Given the description of an element on the screen output the (x, y) to click on. 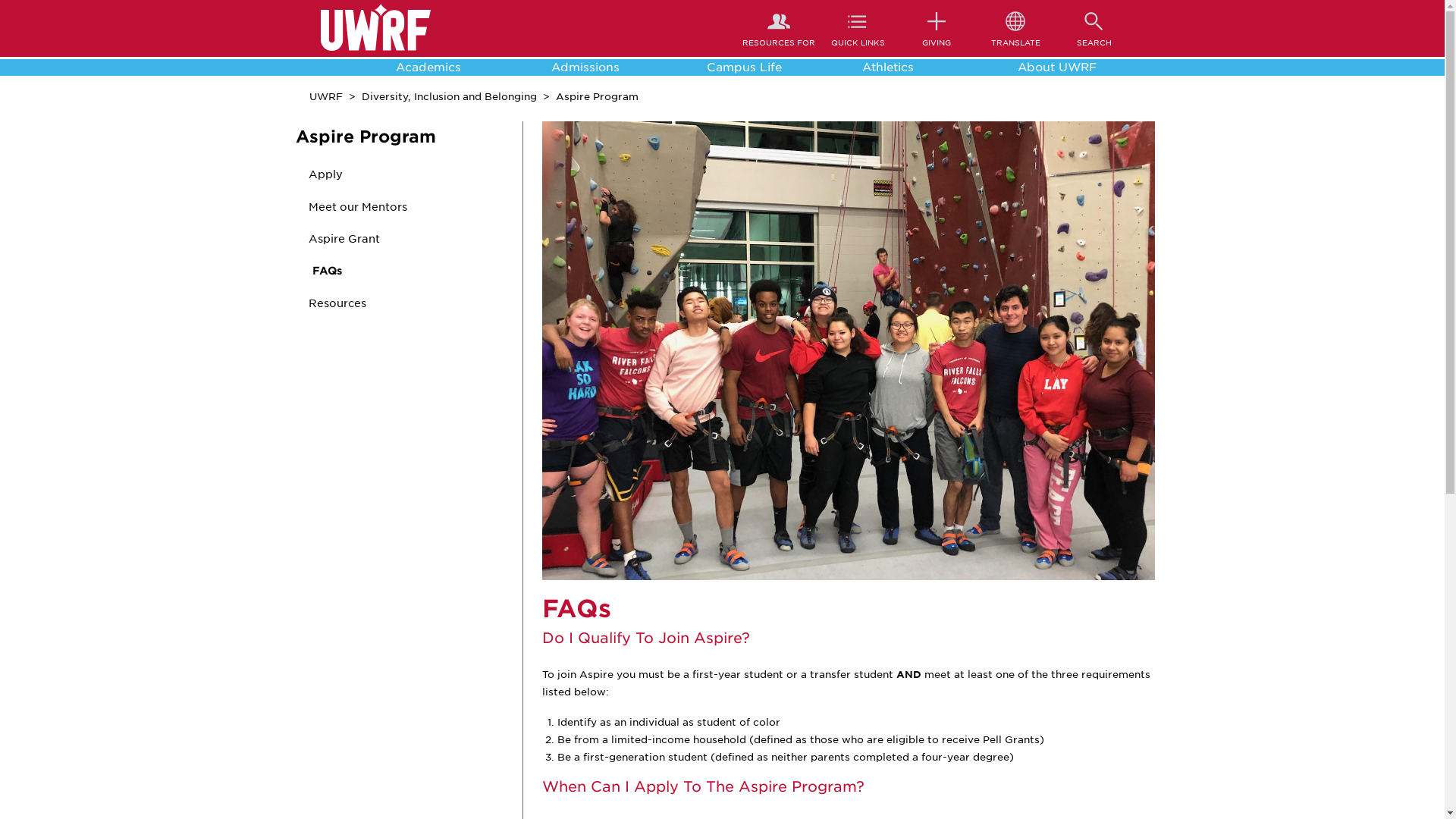
Academics (453, 67)
QUICK LINKS (858, 26)
GIVING (936, 26)
Admissions (609, 67)
SEARCH (1094, 26)
RESOURCES FOR (778, 26)
TRANSLATE (1015, 26)
